Given the description of an element on the screen output the (x, y) to click on. 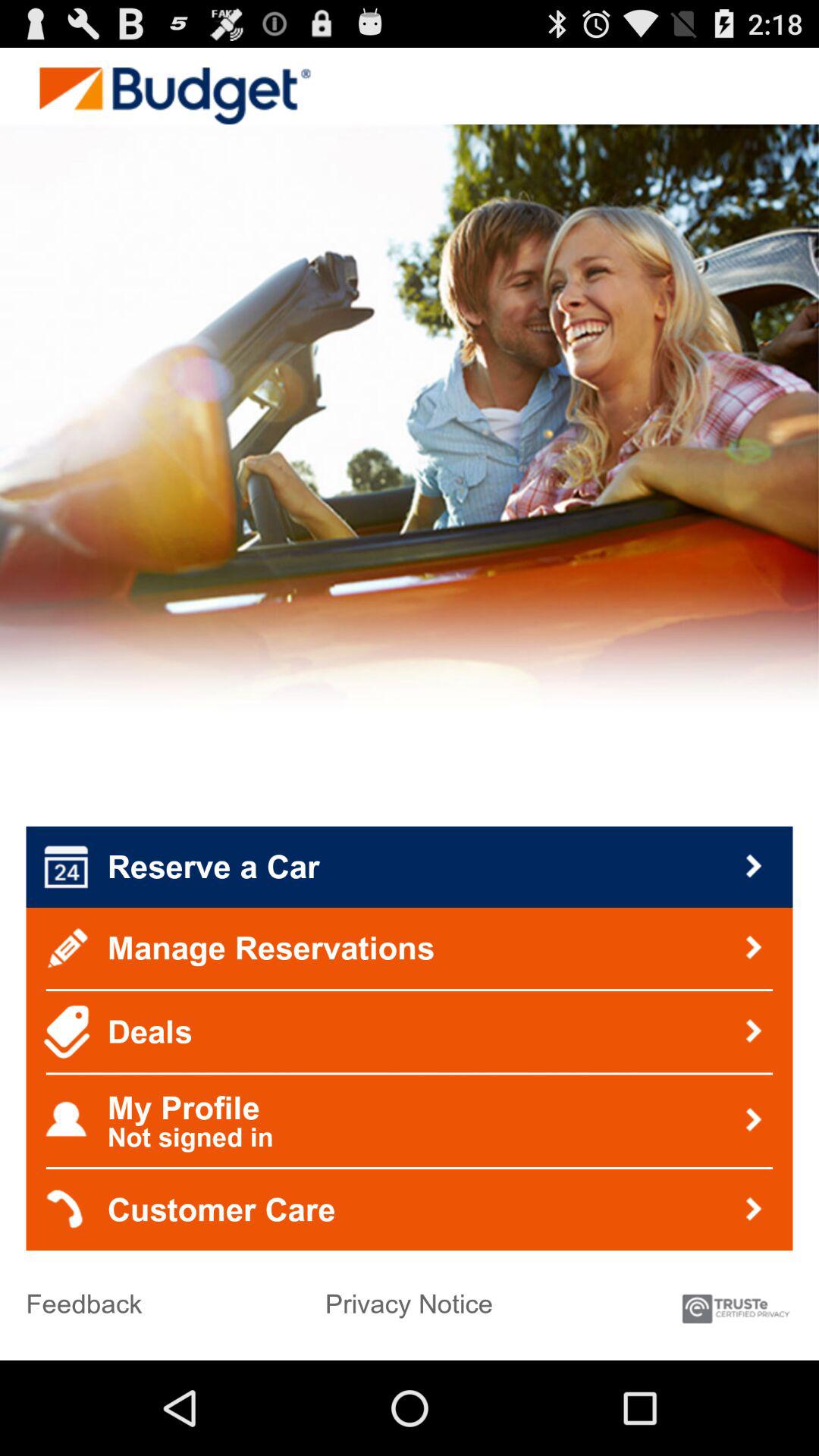
turn on icon next to the privacy notice icon (734, 1301)
